Given the description of an element on the screen output the (x, y) to click on. 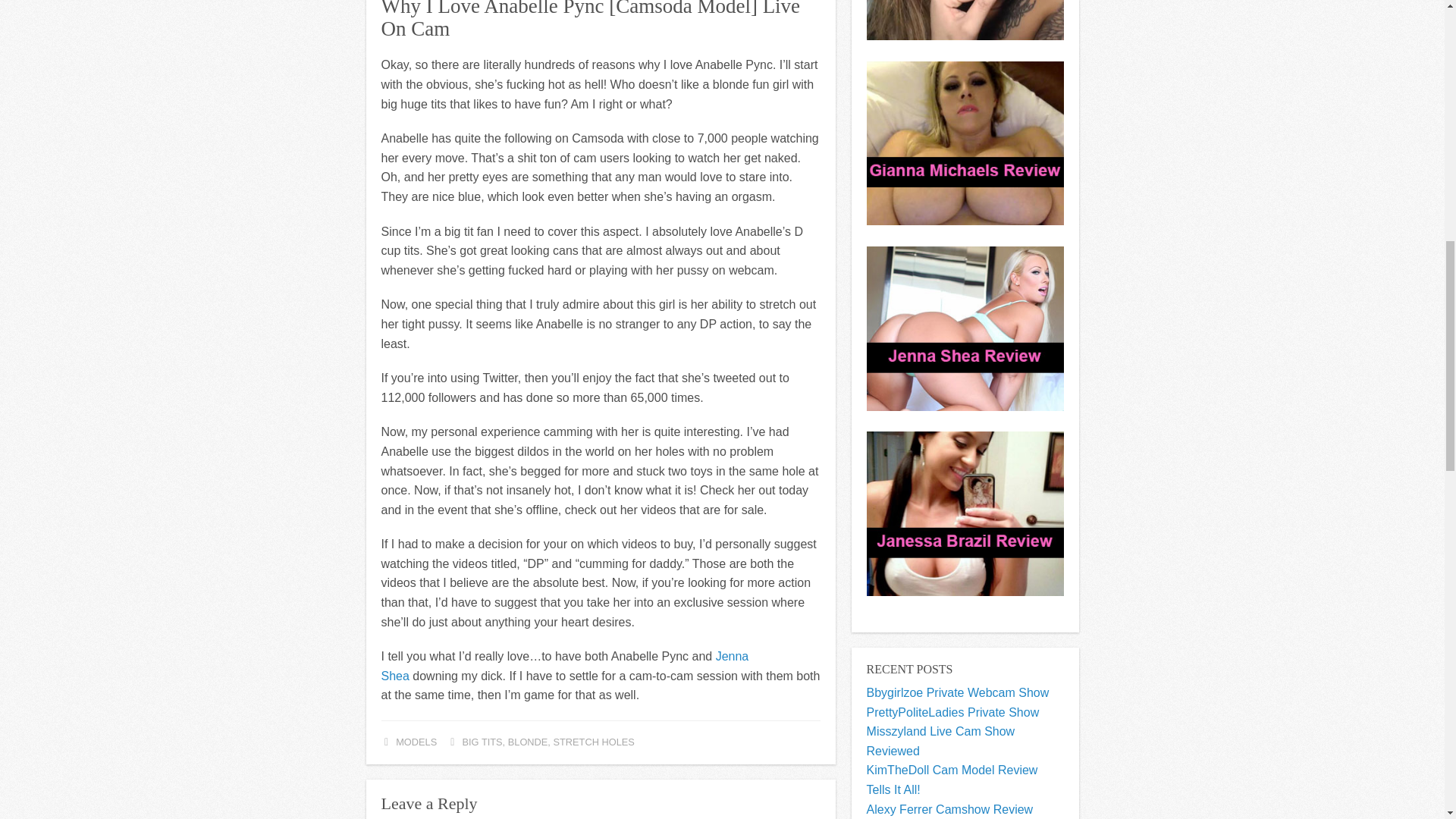
BIG TITS (482, 741)
Bbygirlzoe Private Webcam Show (957, 692)
KimTheDoll Cam Model Review Tells It All! (952, 779)
Jenna Shea (564, 666)
STRETCH HOLES (593, 741)
Misszyland Live Cam Show Reviewed (940, 740)
MODELS (416, 741)
BLONDE (528, 741)
PrettyPoliteLadies Private Show (952, 712)
Alexy Ferrer Camshow Review (949, 809)
